Given the description of an element on the screen output the (x, y) to click on. 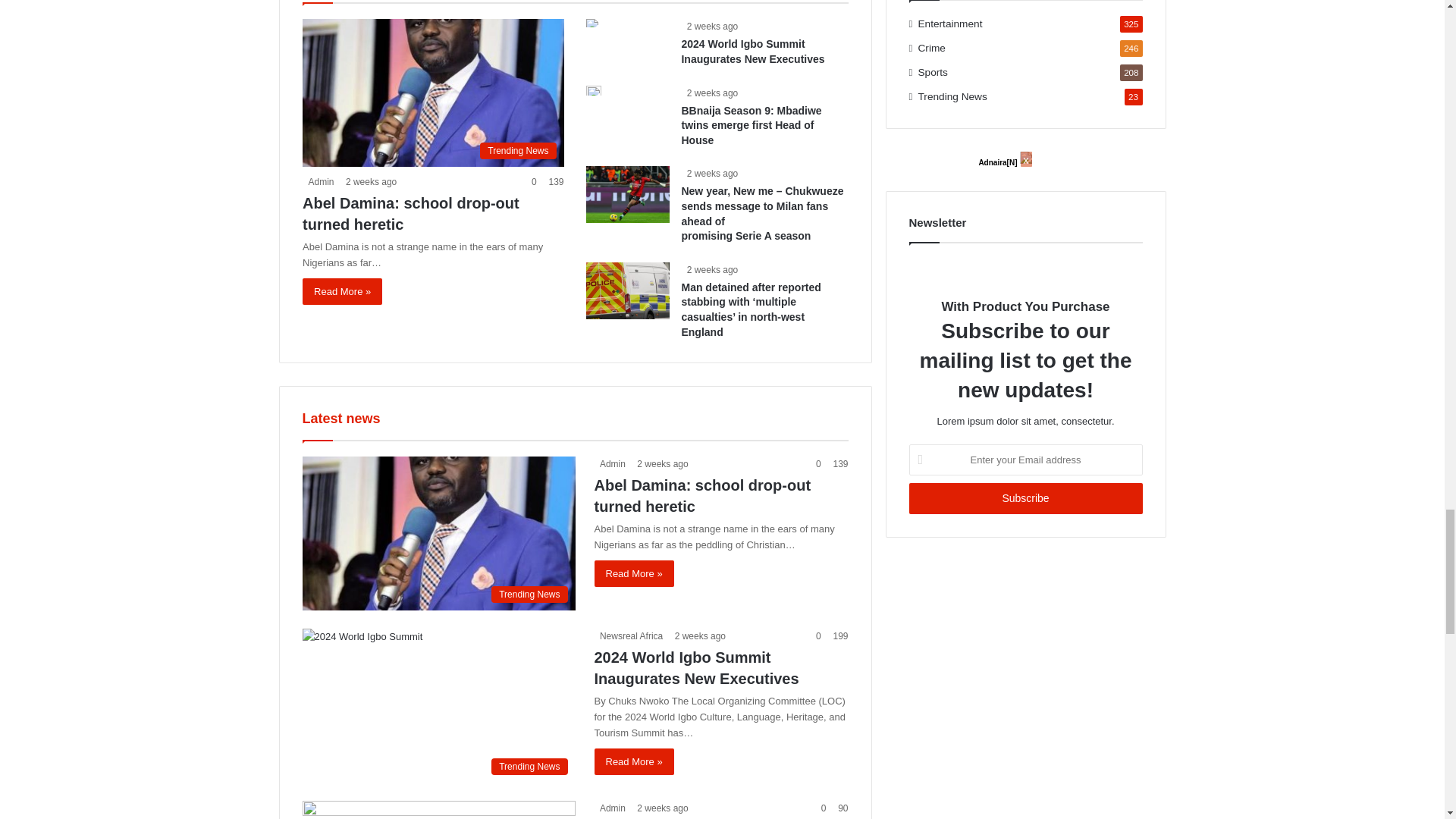
Admin (610, 808)
Admin (317, 181)
Newsreal Africa (628, 635)
Subscribe (1025, 498)
Admin (610, 463)
